Given the description of an element on the screen output the (x, y) to click on. 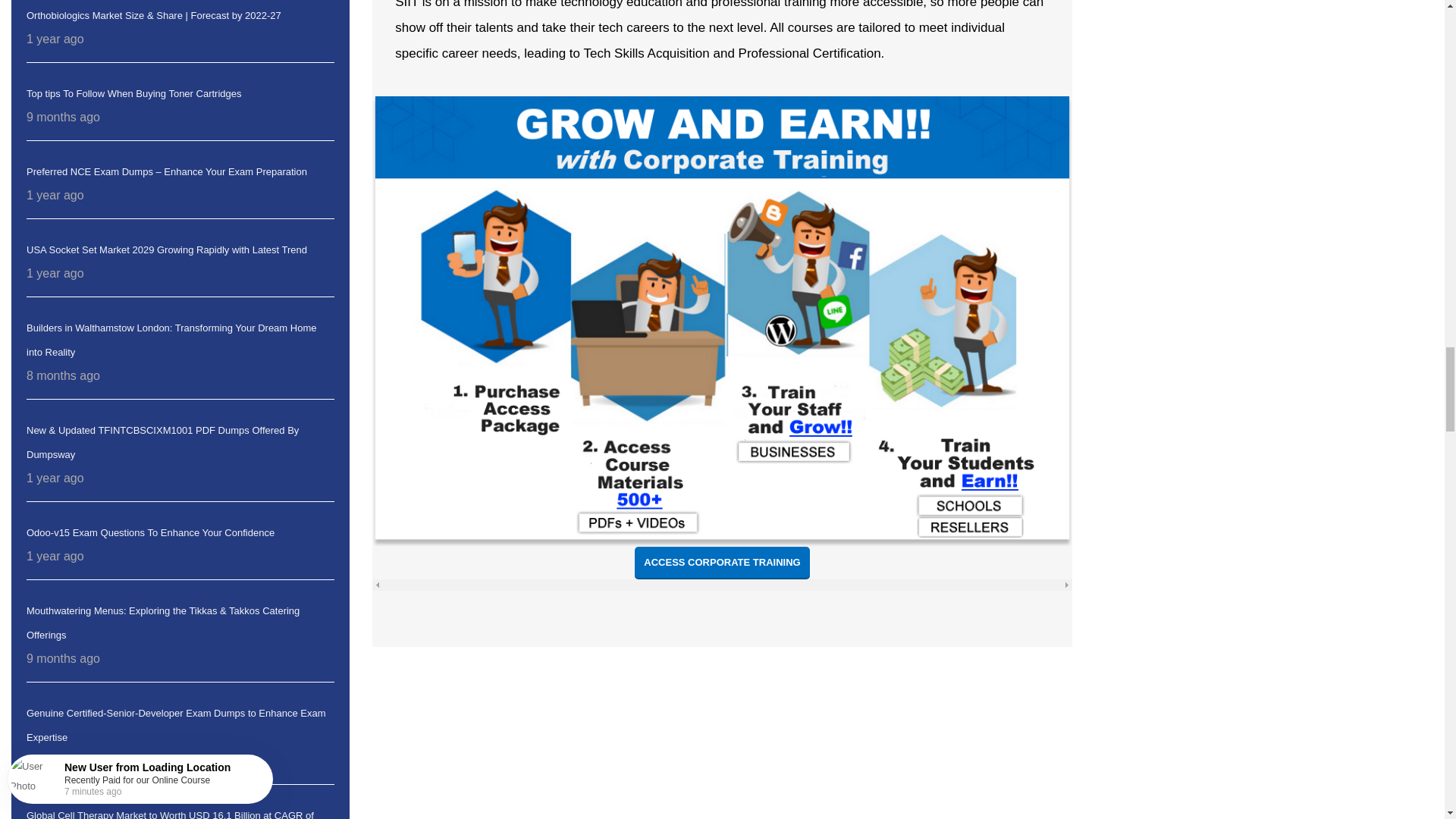
 ACCESS CORPORATE TRAINING  (721, 563)
